Given the description of an element on the screen output the (x, y) to click on. 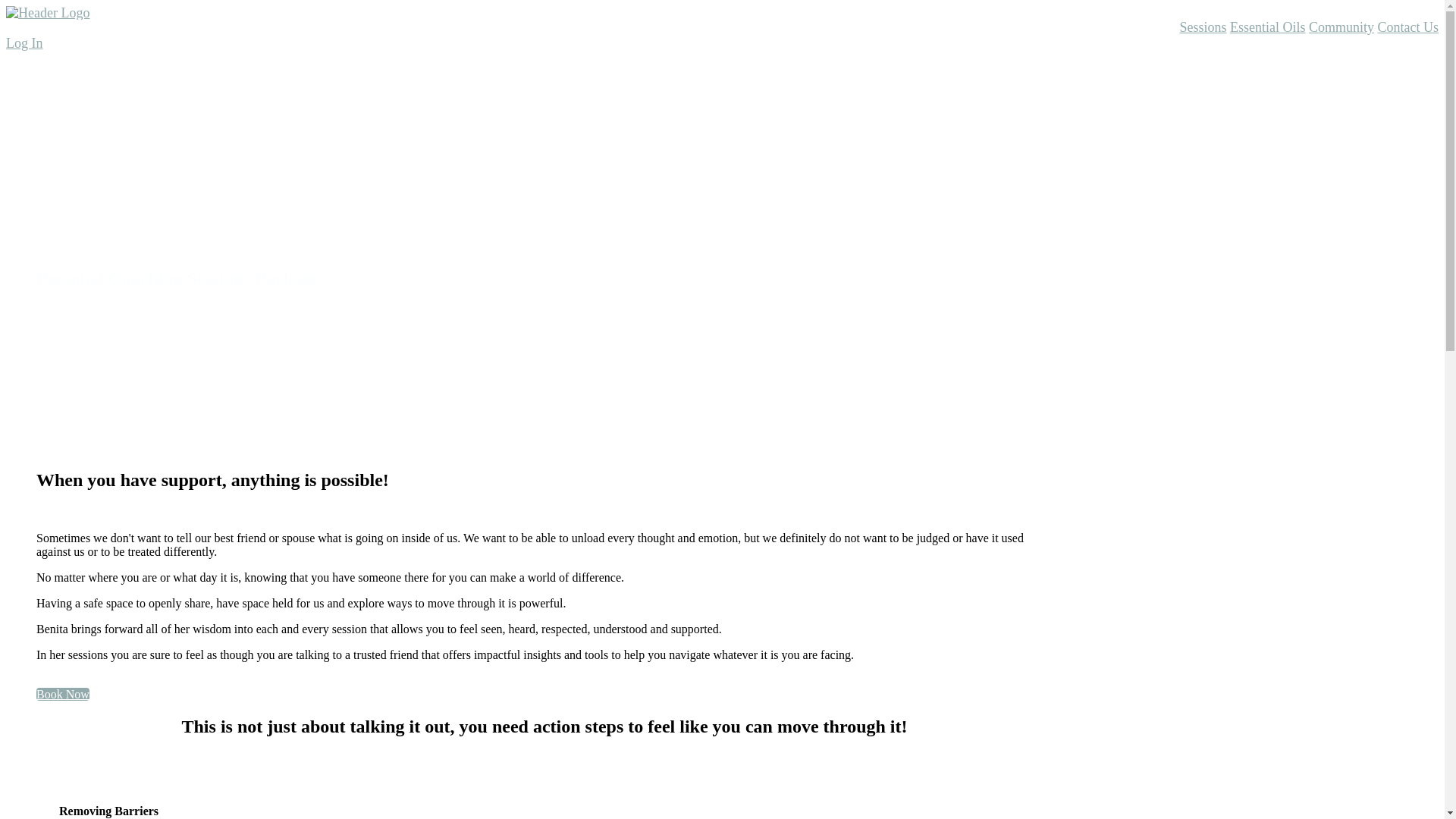
Sessions Element type: text (1202, 26)
Contact Us Element type: text (1407, 26)
Log In Element type: text (24, 42)
Book Now Element type: text (62, 693)
Community Element type: text (1341, 26)
Essential Oils Element type: text (1267, 26)
